Given the description of an element on the screen output the (x, y) to click on. 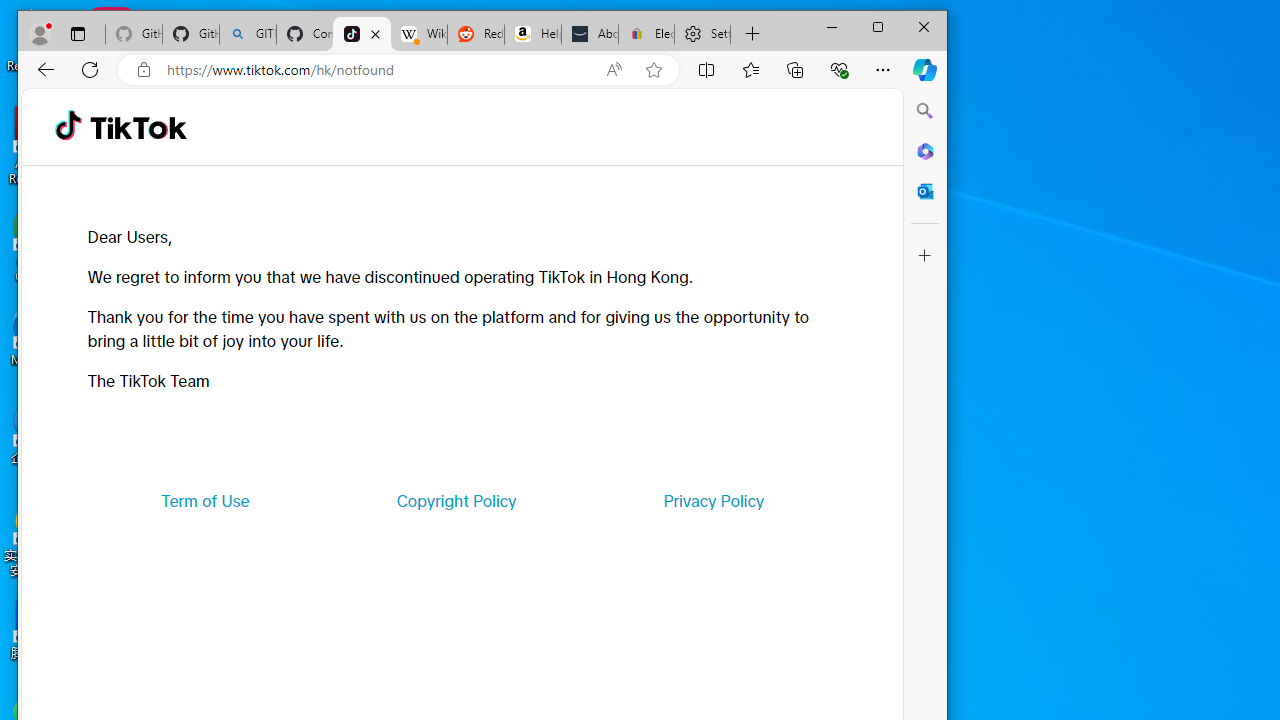
Help & Contact Us - Amazon Customer Service (532, 34)
Electronics, Cars, Fashion, Collectibles & More | eBay (646, 34)
TikTok (138, 126)
Term of Use (205, 500)
Reddit - Dive into anything (476, 34)
